Given the description of an element on the screen output the (x, y) to click on. 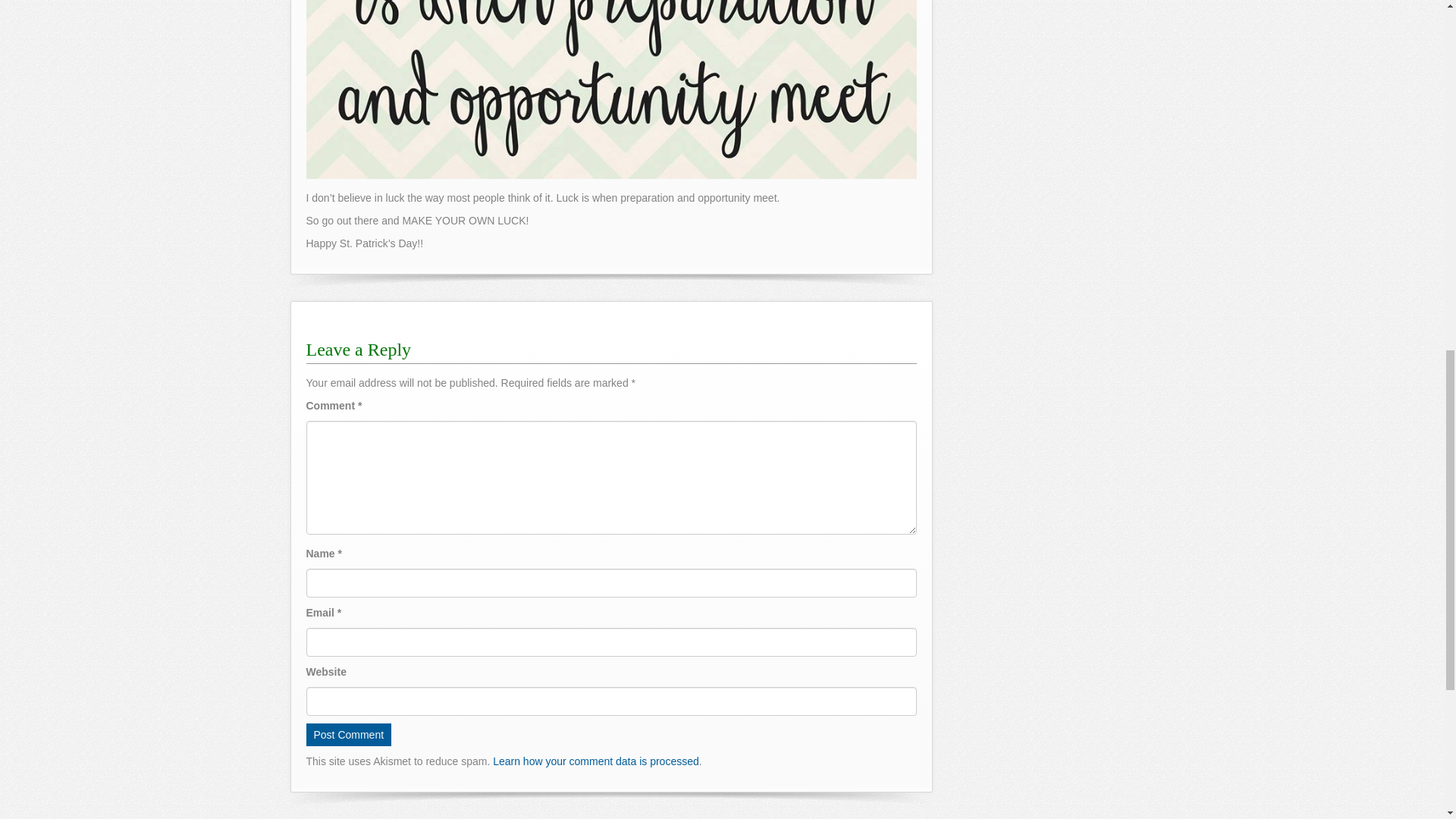
Post Comment (348, 734)
Post Comment (348, 734)
Learn how your comment data is processed (595, 761)
